Given the description of an element on the screen output the (x, y) to click on. 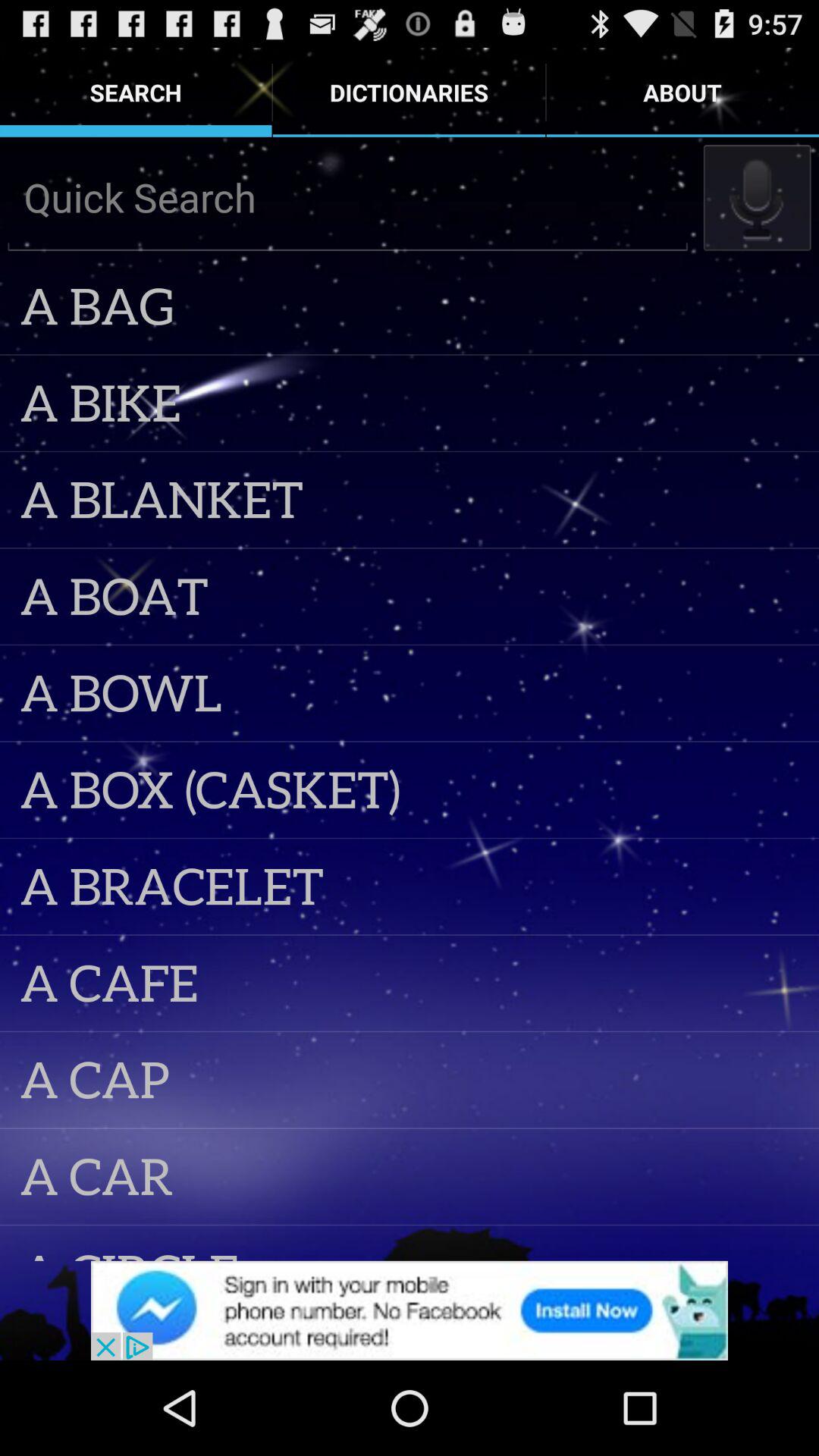
search bar (347, 197)
